Given the description of an element on the screen output the (x, y) to click on. 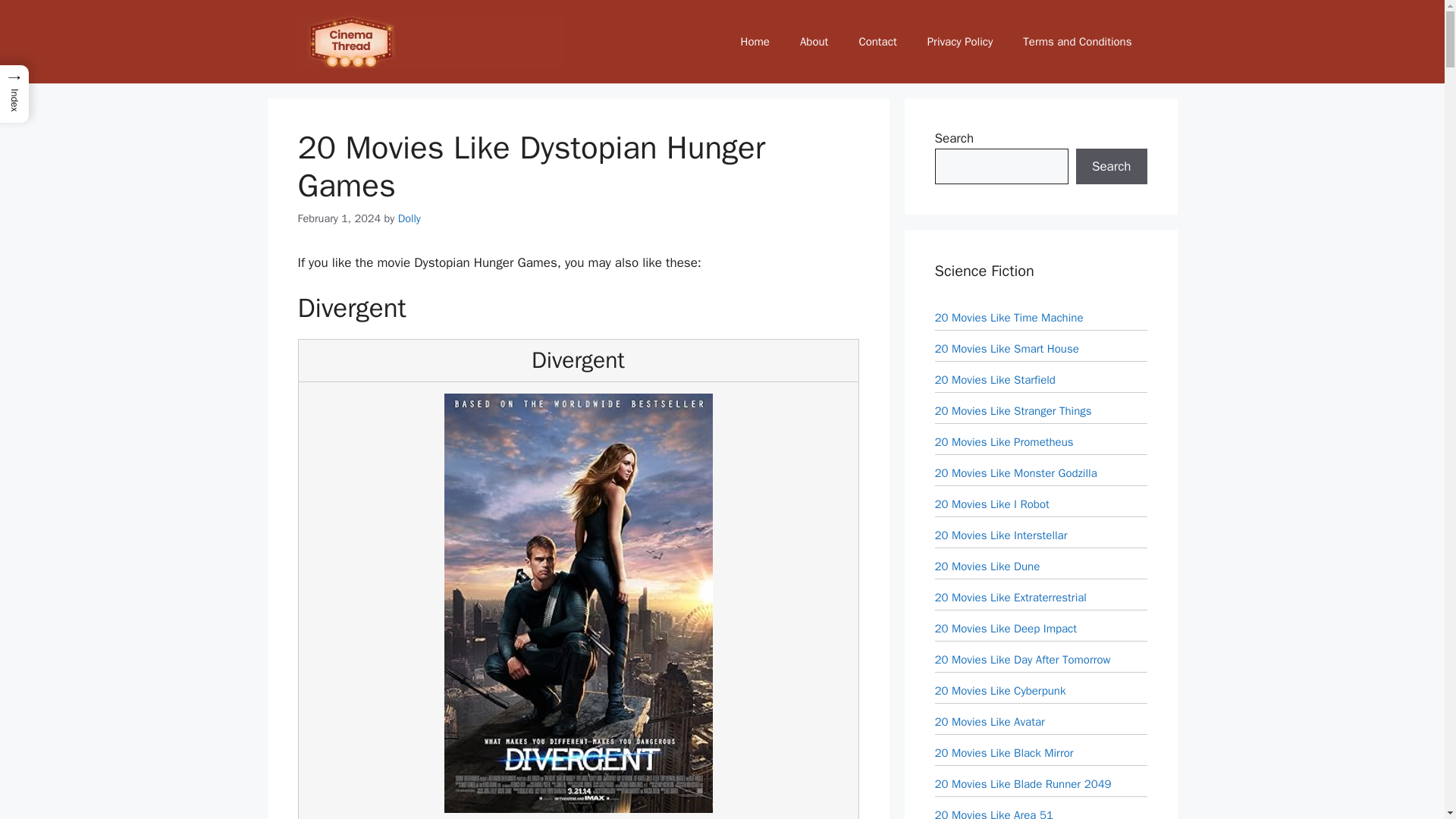
About (813, 41)
Contact (877, 41)
Dolly (408, 218)
Privacy Policy (960, 41)
Home (754, 41)
Terms and Conditions (1077, 41)
View all posts by Dolly (408, 218)
